Given the description of an element on the screen output the (x, y) to click on. 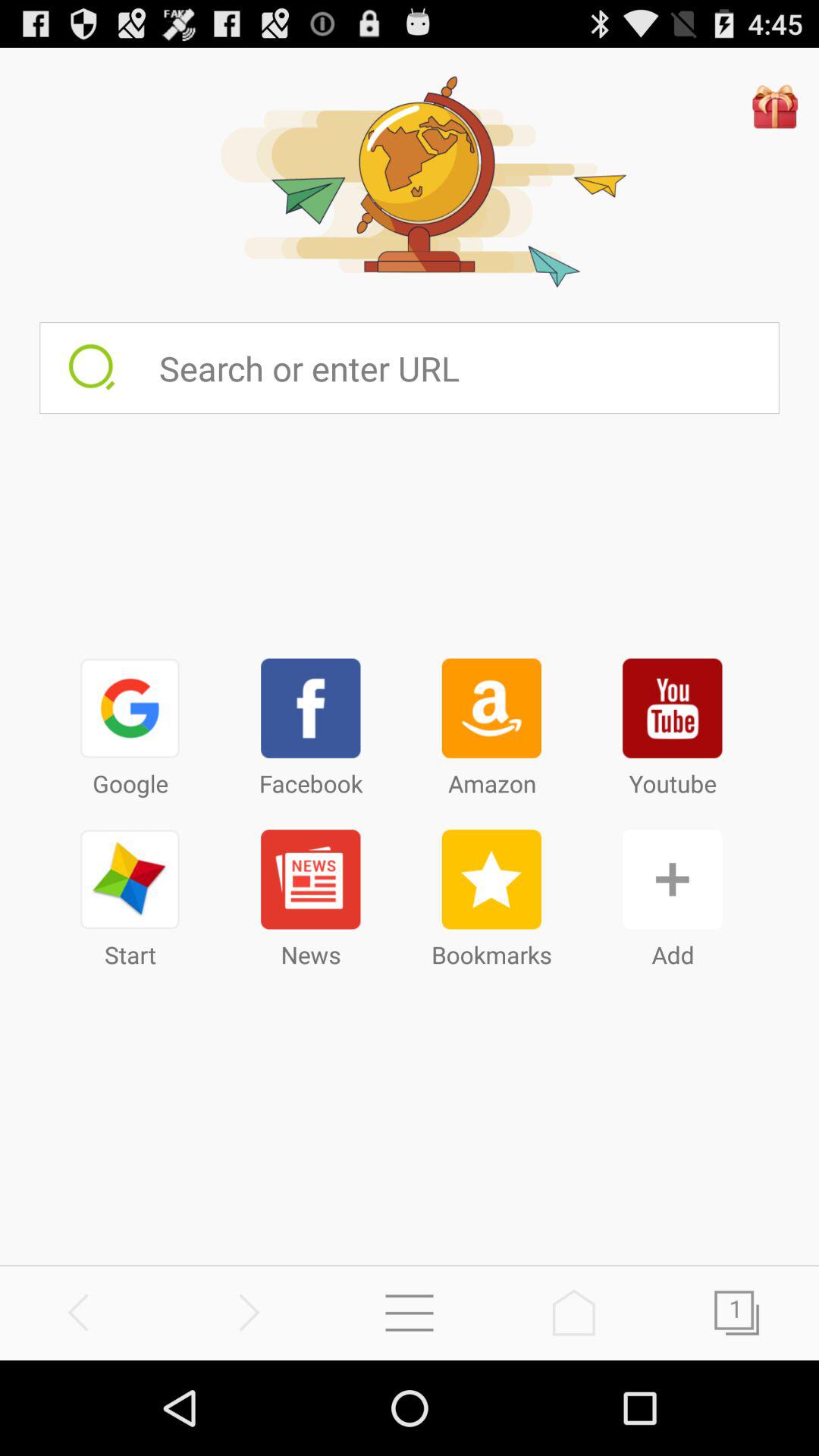
look for a website (468, 368)
